Given the description of an element on the screen output the (x, y) to click on. 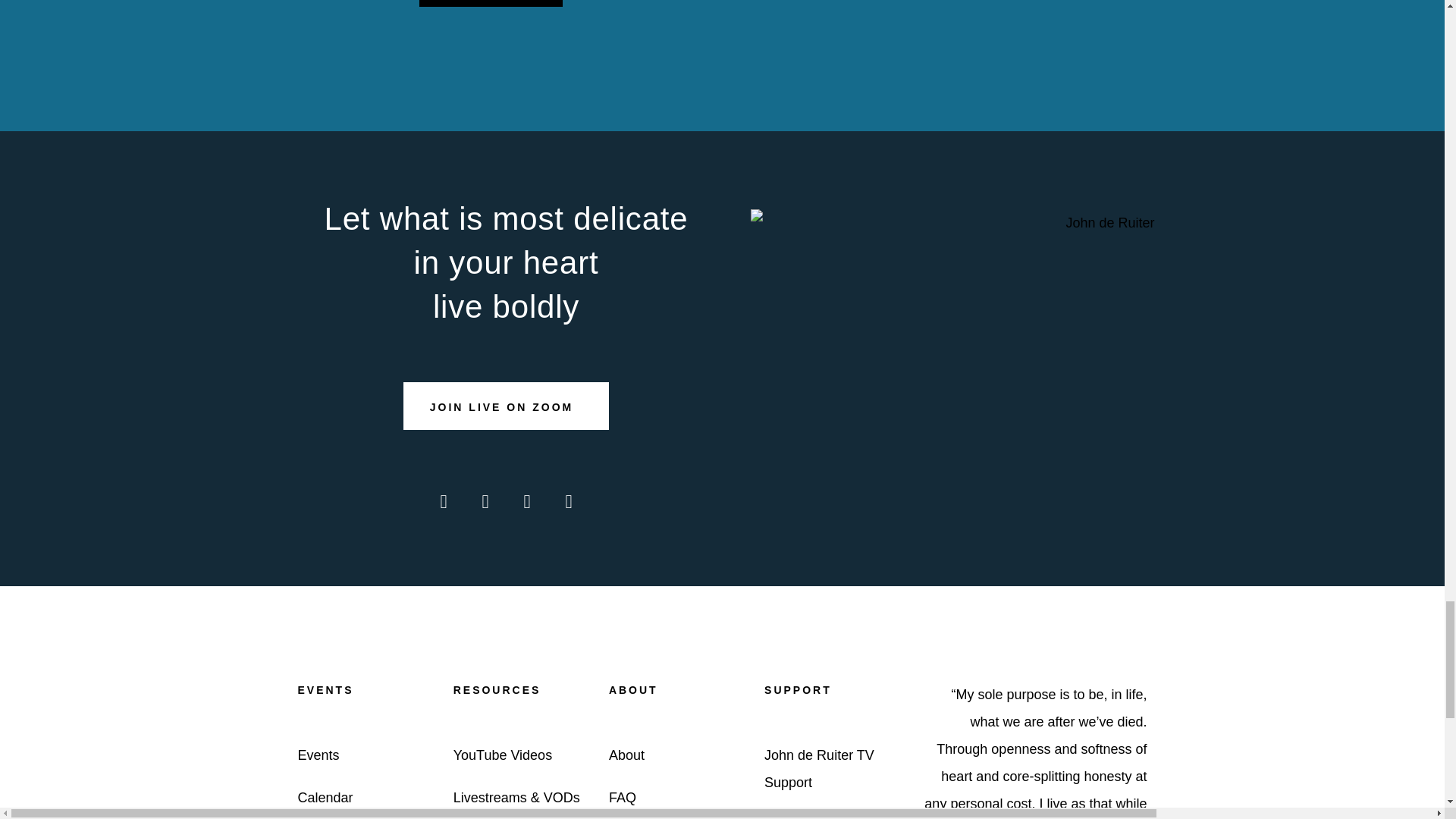
Subscribe (490, 3)
